Given the description of an element on the screen output the (x, y) to click on. 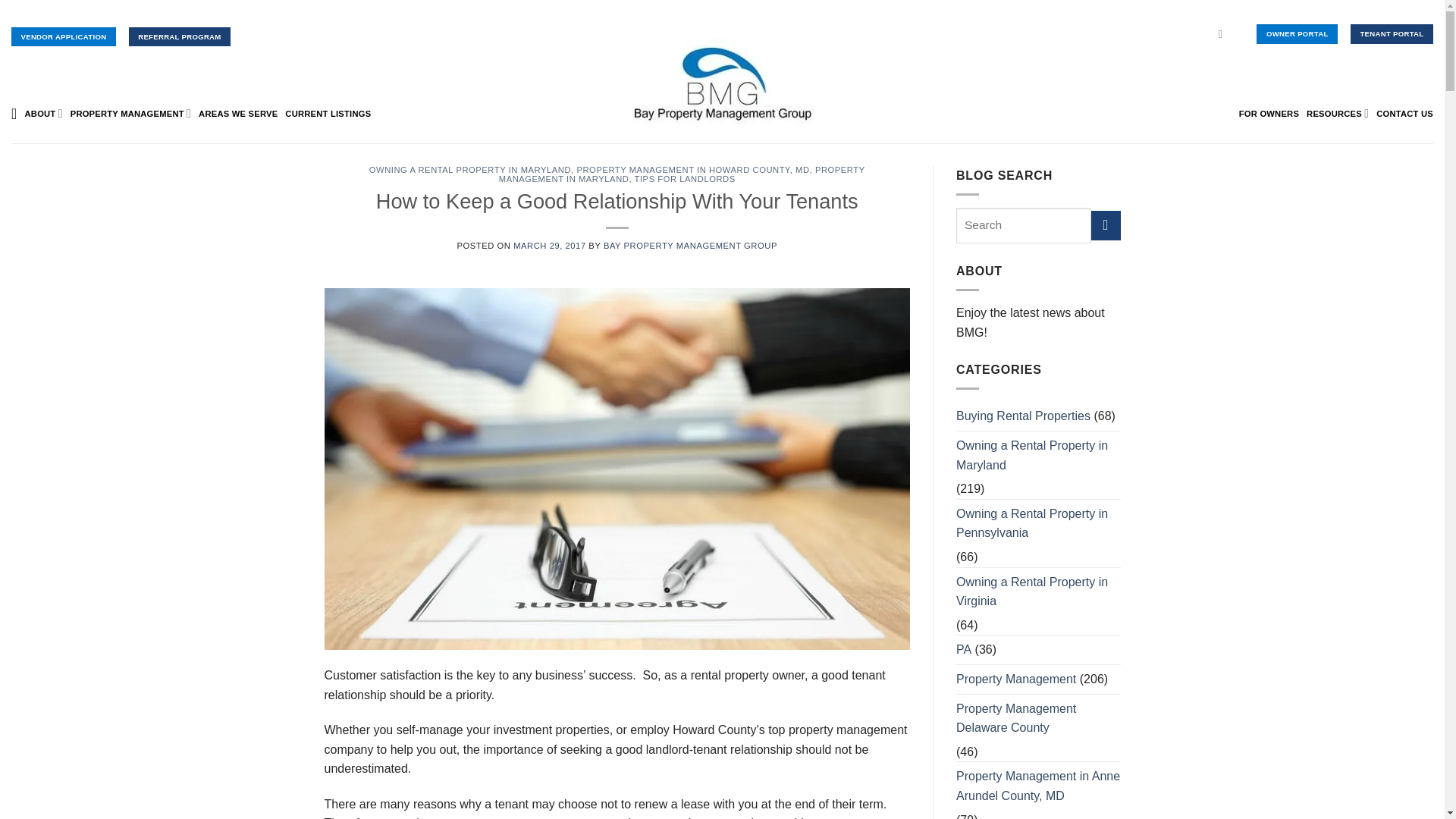
TENANT PORTAL (1391, 33)
REFERRAL PROGRAM (179, 36)
PROPERTY MANAGEMENT (129, 112)
PROPERTY MANAGEMENT IN MARYLAND (681, 174)
AREAS WE SERVE (238, 113)
ABOUT (43, 112)
Bay Property Management Group (721, 83)
OWNING A RENTAL PROPERTY IN MARYLAND (469, 169)
PROPERTY MANAGEMENT IN HOWARD COUNTY, MD (692, 169)
TIPS FOR LANDLORDS (684, 178)
VENDOR APPLICATION (63, 36)
CONTACT US (1403, 113)
MARCH 29, 2017 (549, 245)
